Given the description of an element on the screen output the (x, y) to click on. 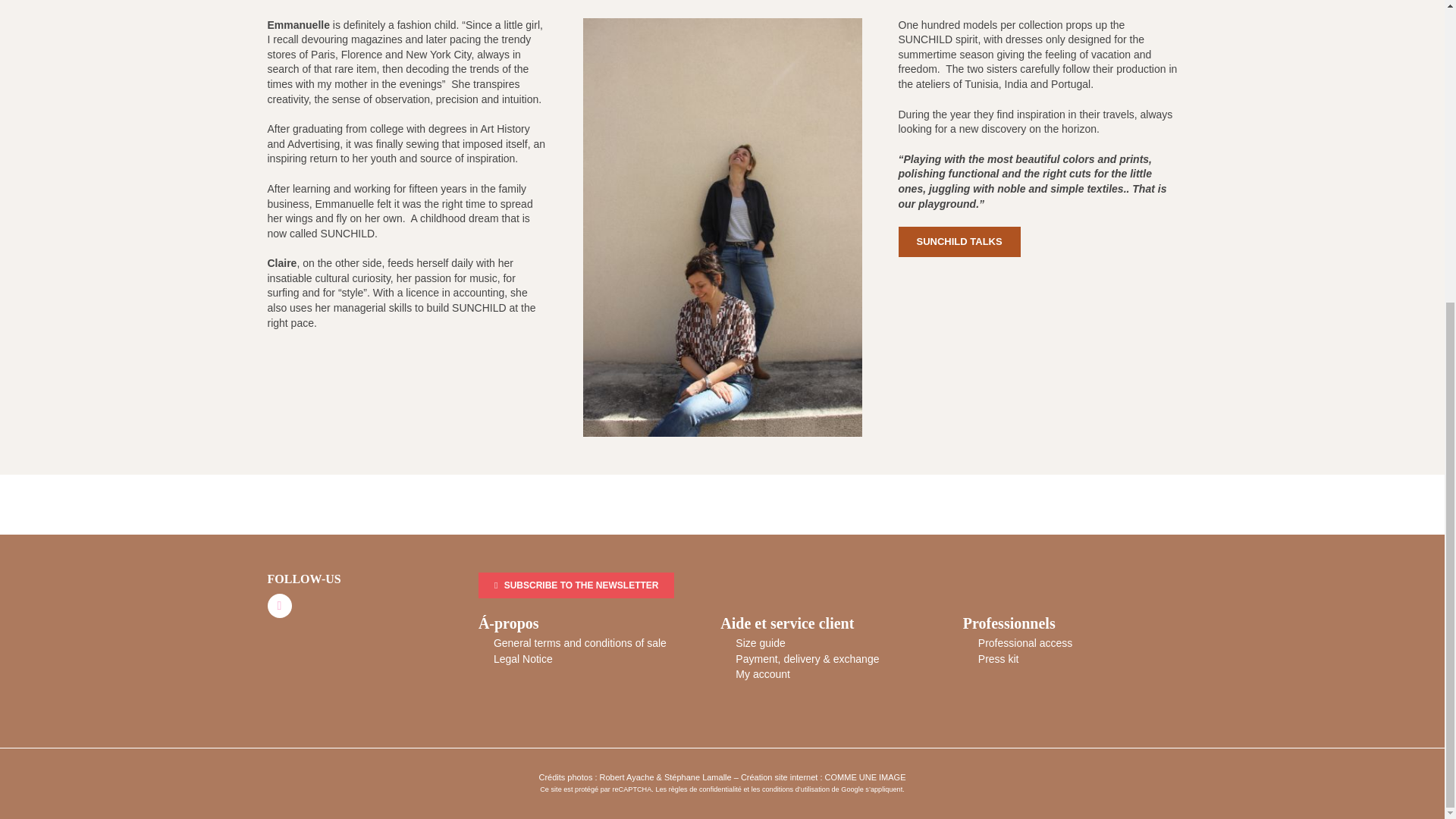
SUNCHILD TALKS (959, 241)
Instagram (278, 605)
SUBSCRIBE TO THE NEWSLETTER (577, 585)
